Given the description of an element on the screen output the (x, y) to click on. 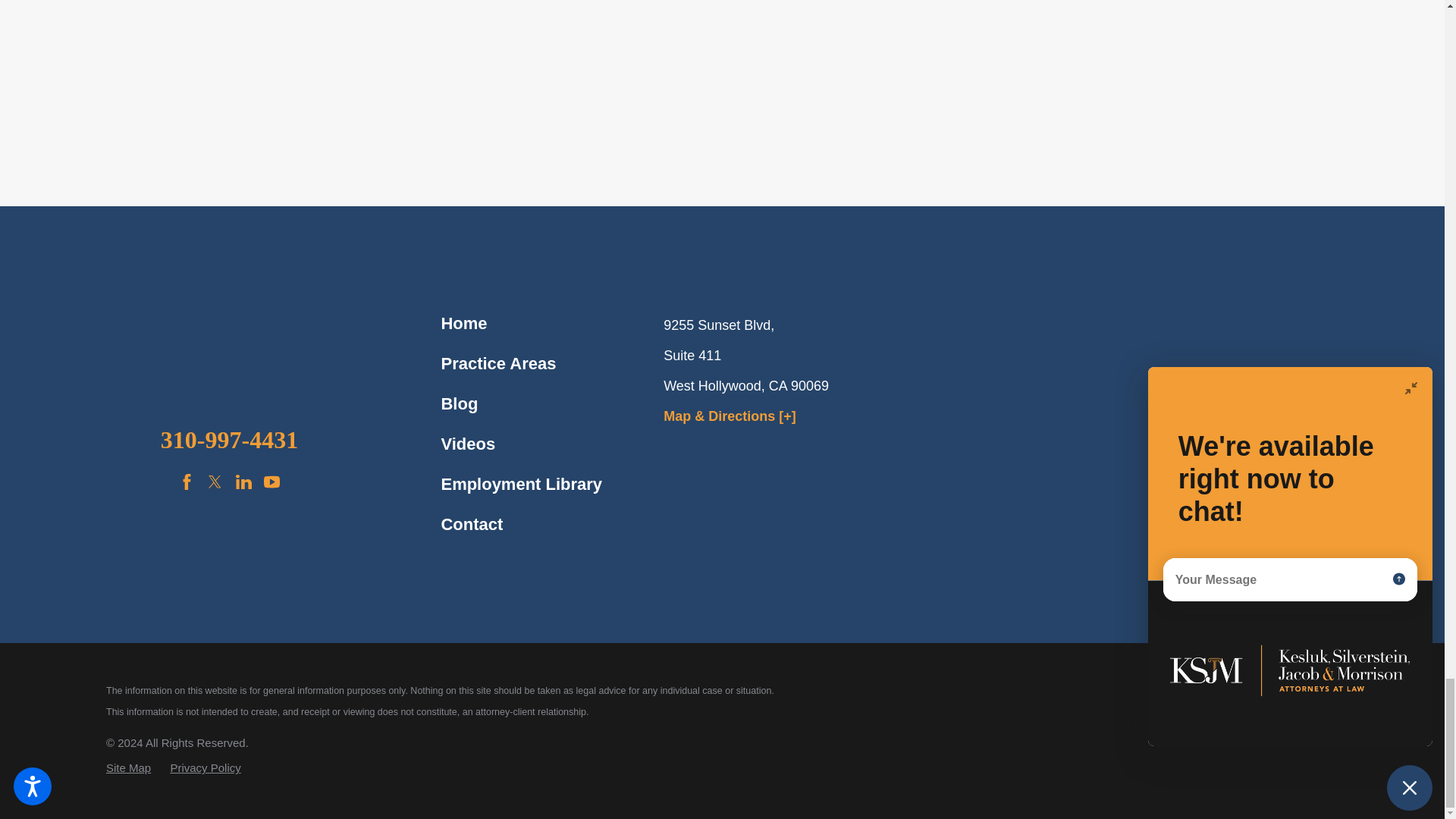
Facebook (187, 481)
